Given the description of an element on the screen output the (x, y) to click on. 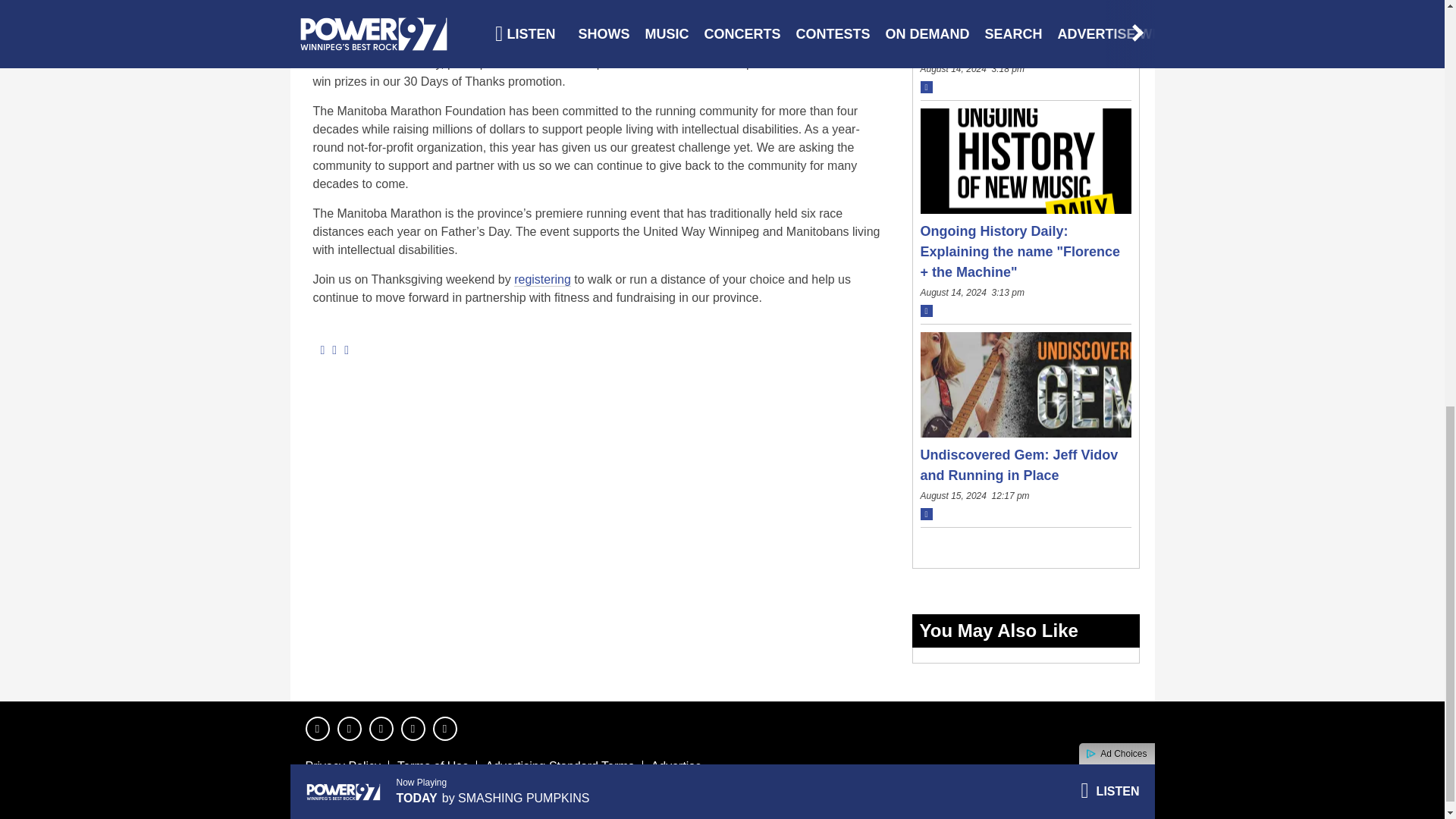
Corus (1088, 803)
registering (541, 279)
